Given the description of an element on the screen output the (x, y) to click on. 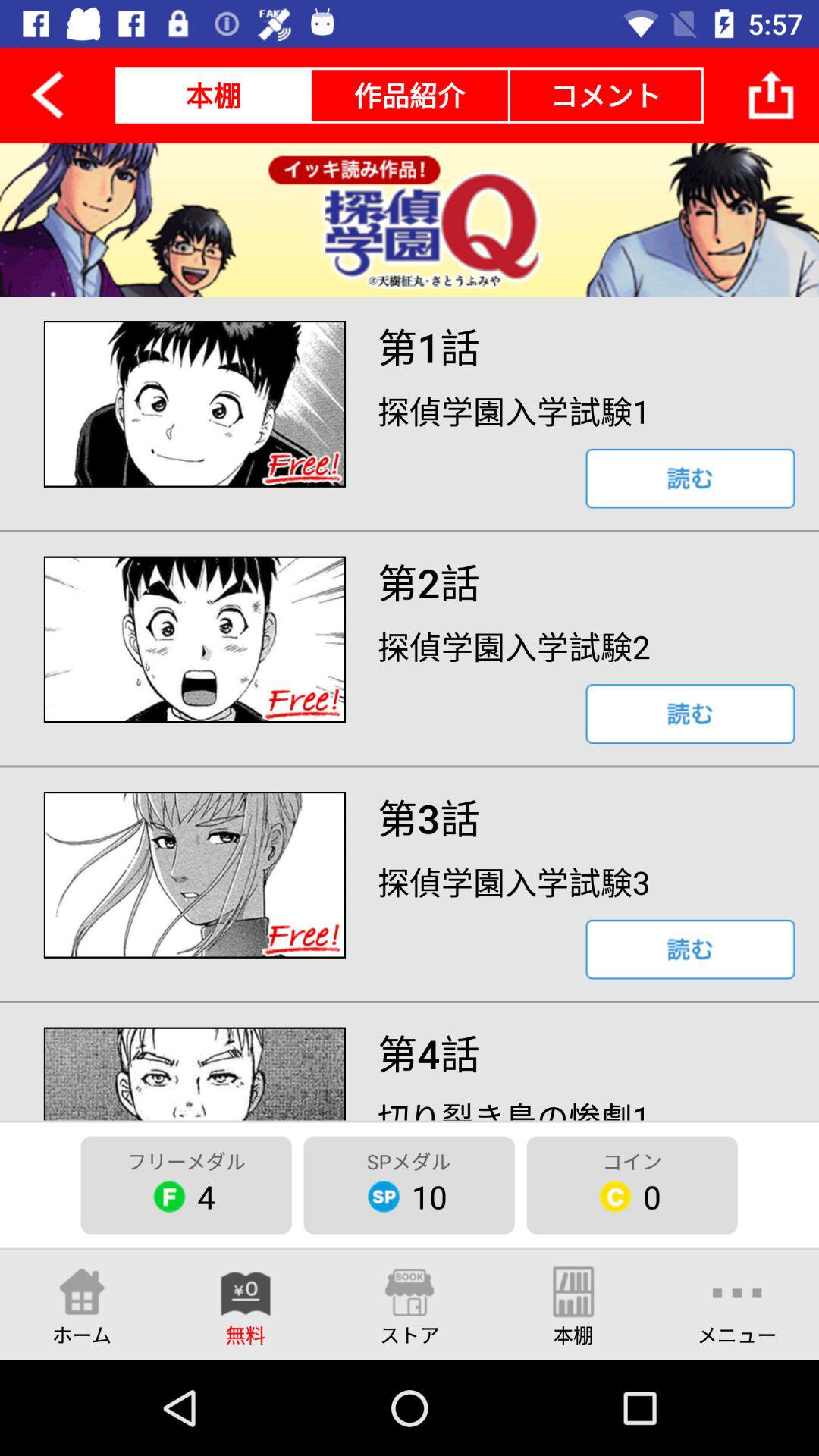
choose the item below the 4 icon (81, 1305)
